Given the description of an element on the screen output the (x, y) to click on. 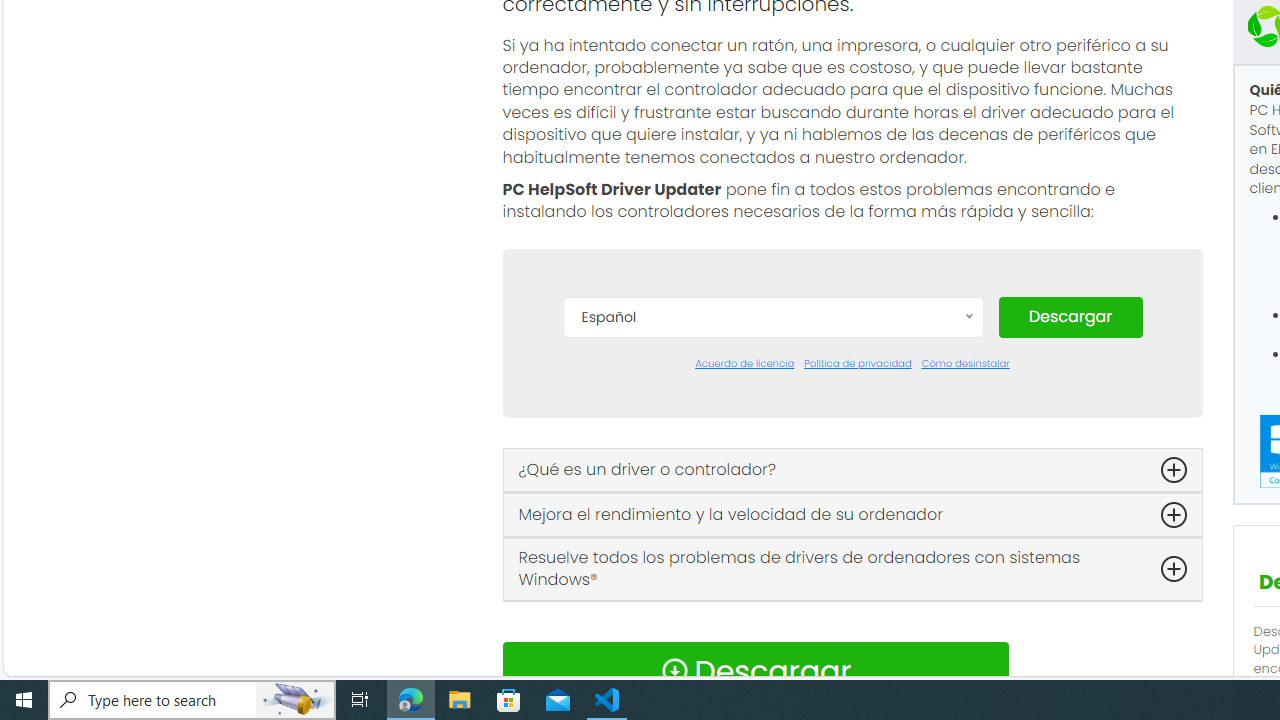
Deutsch (772, 472)
Descargar (1070, 316)
Nederlands (772, 621)
Download Icon (674, 670)
Italiano (772, 591)
Norsk (772, 652)
English (772, 501)
Acuerdo de licencia (744, 363)
Dansk (772, 411)
